Given the description of an element on the screen output the (x, y) to click on. 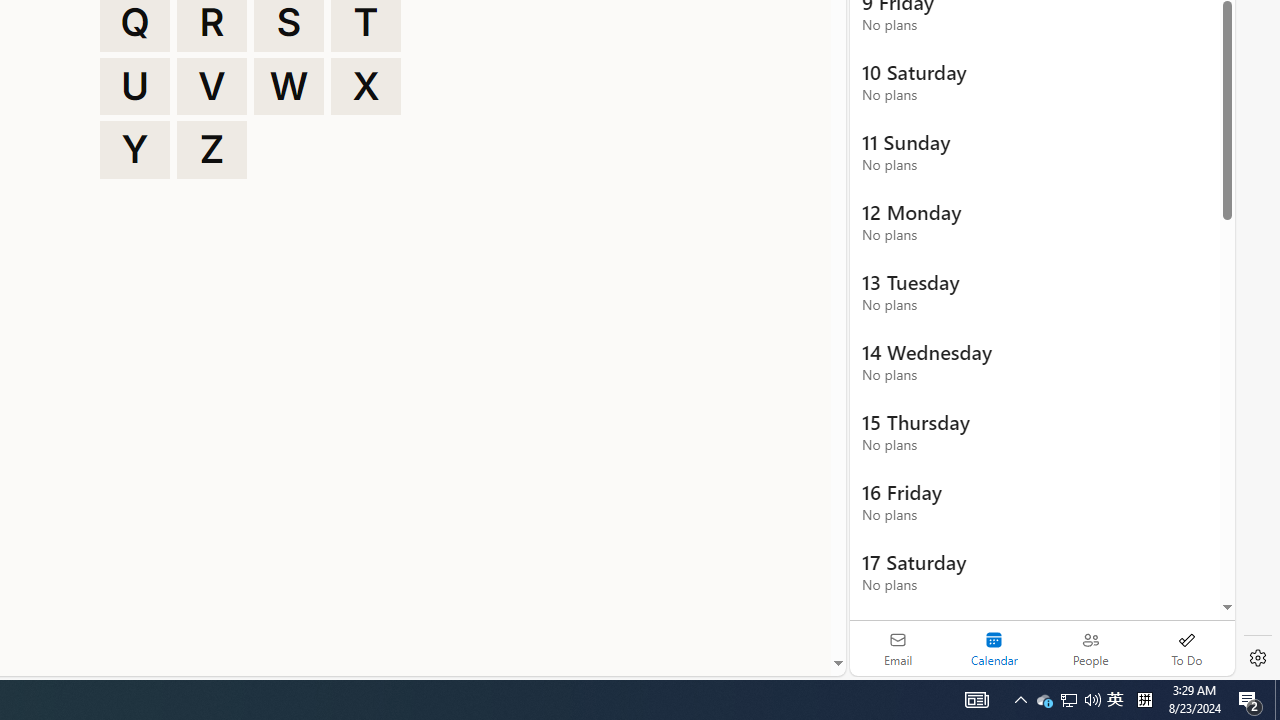
Z (212, 149)
Email (898, 648)
Y (134, 149)
To Do (1186, 648)
Selected calendar module. Date today is 22 (994, 648)
People (1090, 648)
W (289, 85)
U (134, 85)
V (212, 85)
Y (134, 149)
X (365, 85)
